Given the description of an element on the screen output the (x, y) to click on. 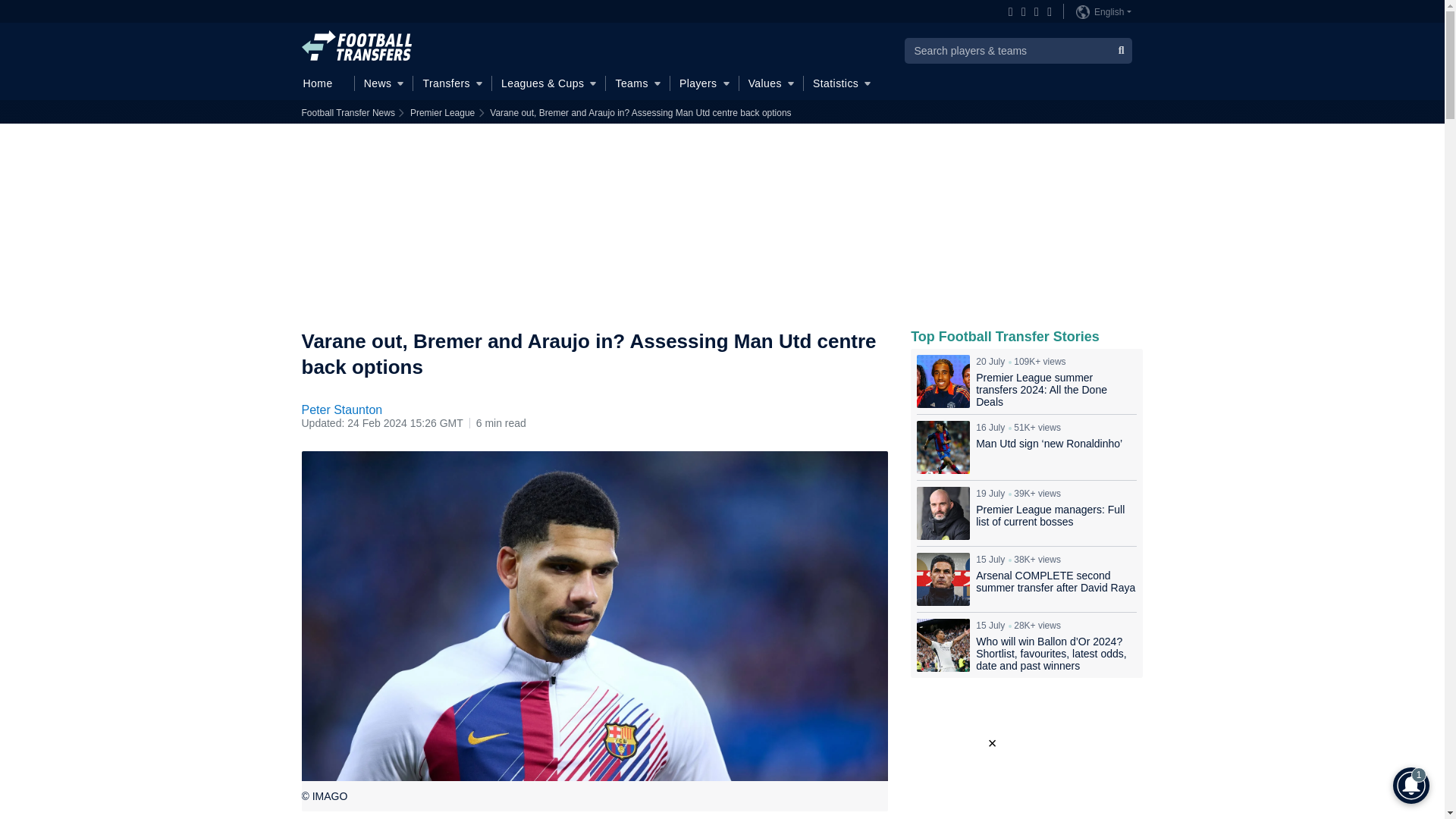
Our Facebook page (1008, 12)
Teams (636, 83)
Transfers (451, 83)
Transfers (451, 83)
English (1103, 11)
News (384, 83)
Our LinkedIn page (1046, 12)
News (384, 83)
Our Twitter page (1033, 12)
Home (323, 83)
Home (323, 83)
Our Instagram page (1020, 12)
